Given the description of an element on the screen output the (x, y) to click on. 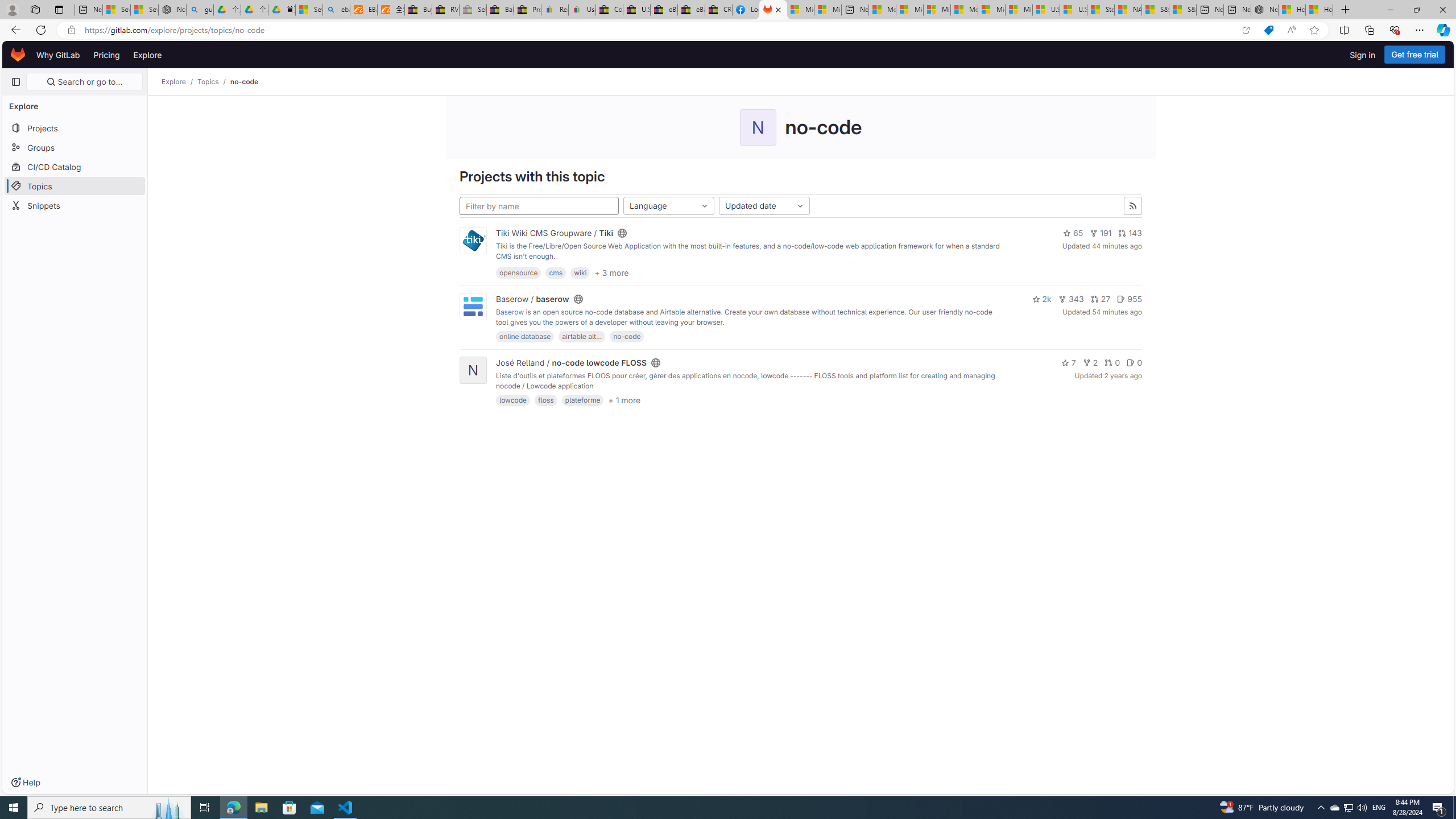
2 (1089, 362)
955 (1128, 299)
no-code (244, 81)
Explore/ (179, 81)
Pricing (106, 54)
Register: Create a personal eBay account (554, 9)
opensource (518, 272)
Sign in (1362, 54)
Class: s14 gl-mr-2 (1130, 362)
